Given the description of an element on the screen output the (x, y) to click on. 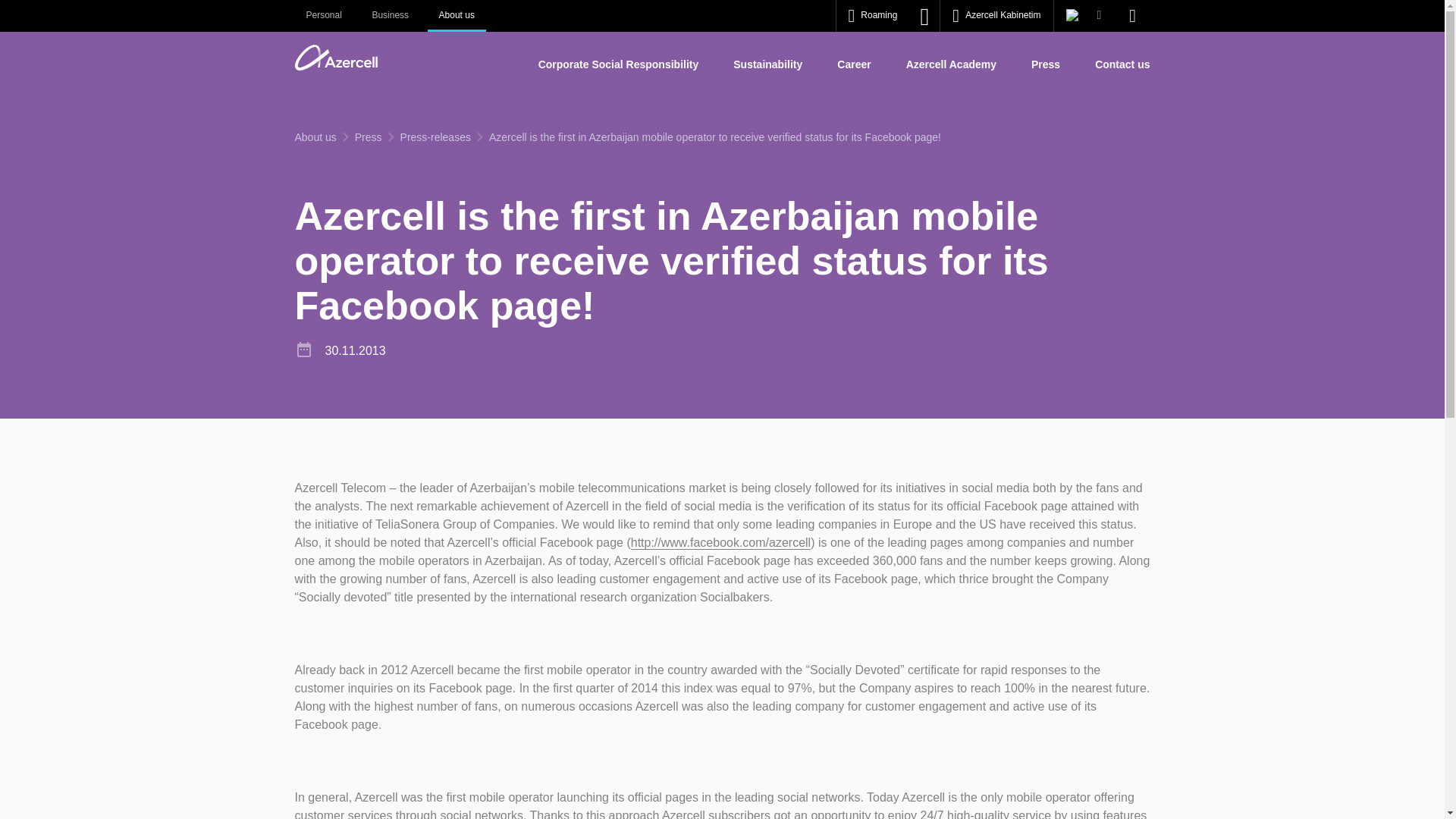
Azercell Kabinetim (995, 15)
Business (389, 15)
Contact us (1122, 64)
About us (457, 15)
Roaming (872, 15)
Azercell Academy (951, 64)
Press (1045, 64)
Sustainability (766, 64)
Corporate Social Responsibility (618, 64)
About us (315, 136)
Personal (323, 15)
Press (368, 136)
Press-releases (435, 136)
